Given the description of an element on the screen output the (x, y) to click on. 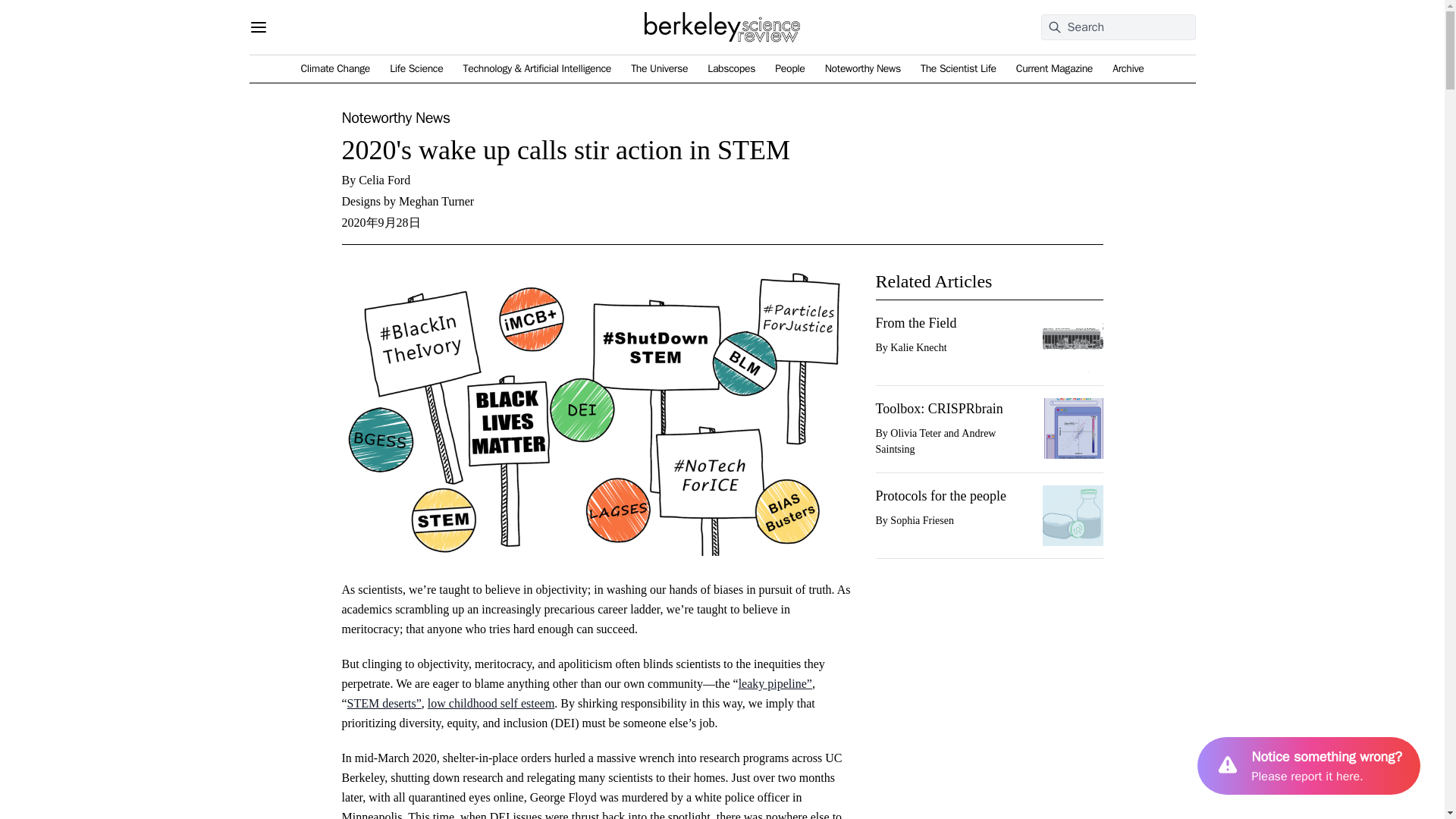
Meghan Turner (436, 201)
low childhood self esteem (491, 703)
Labscopes (731, 68)
Life Science (416, 68)
People (789, 68)
Noteworthy News (863, 68)
The Scientist Life (957, 68)
The Universe (658, 68)
Current Magazine (1054, 68)
Noteworthy News (394, 117)
